Given the description of an element on the screen output the (x, y) to click on. 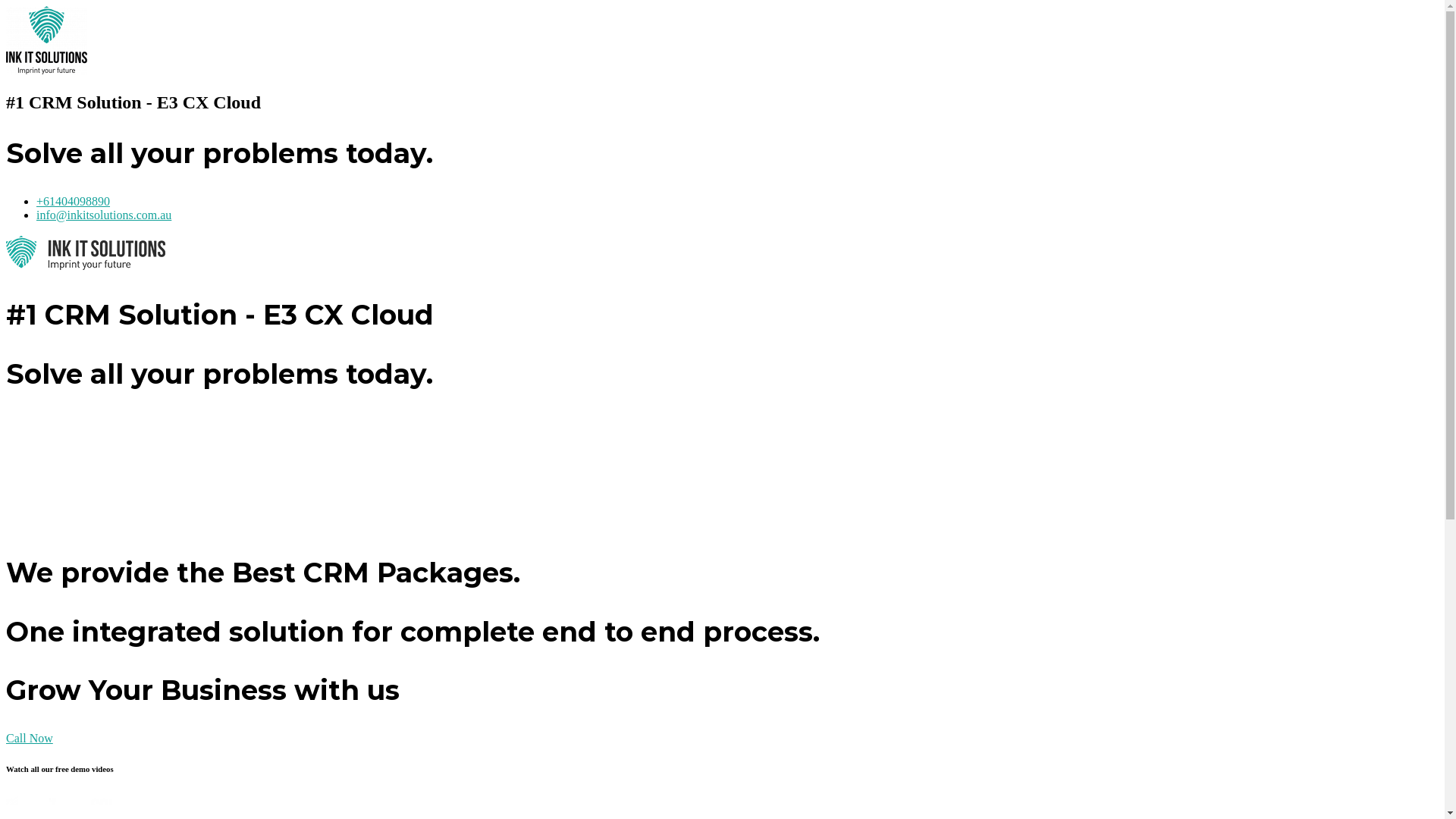
+61404098890 Element type: text (72, 200)
logo_ Element type: hover (46, 40)
Call Now Element type: text (29, 737)
info@inkitsolutions.com.au Element type: text (103, 214)
